Given the description of an element on the screen output the (x, y) to click on. 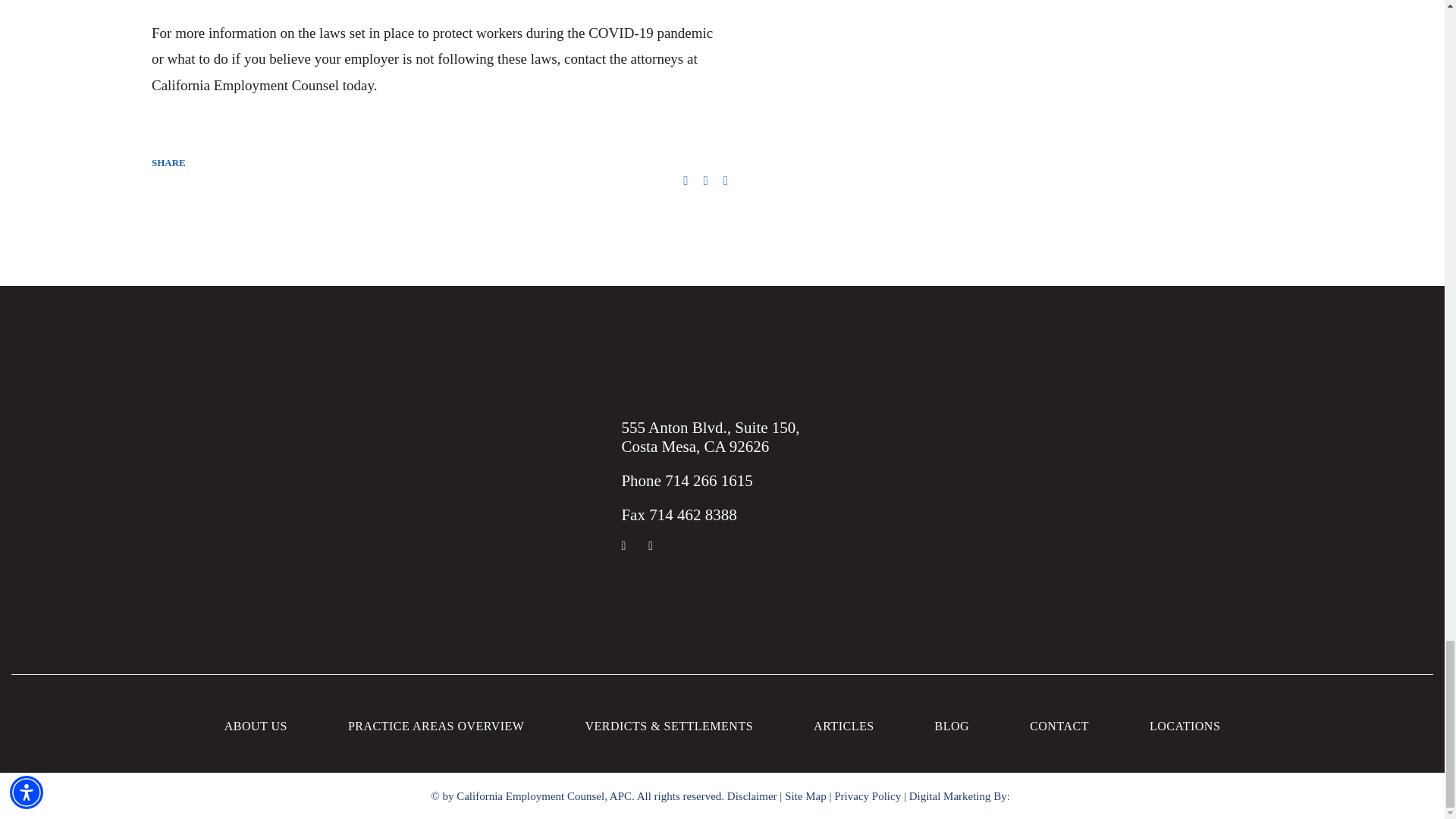
contact the attorneys at California Employment Counsel (424, 71)
